Given the description of an element on the screen output the (x, y) to click on. 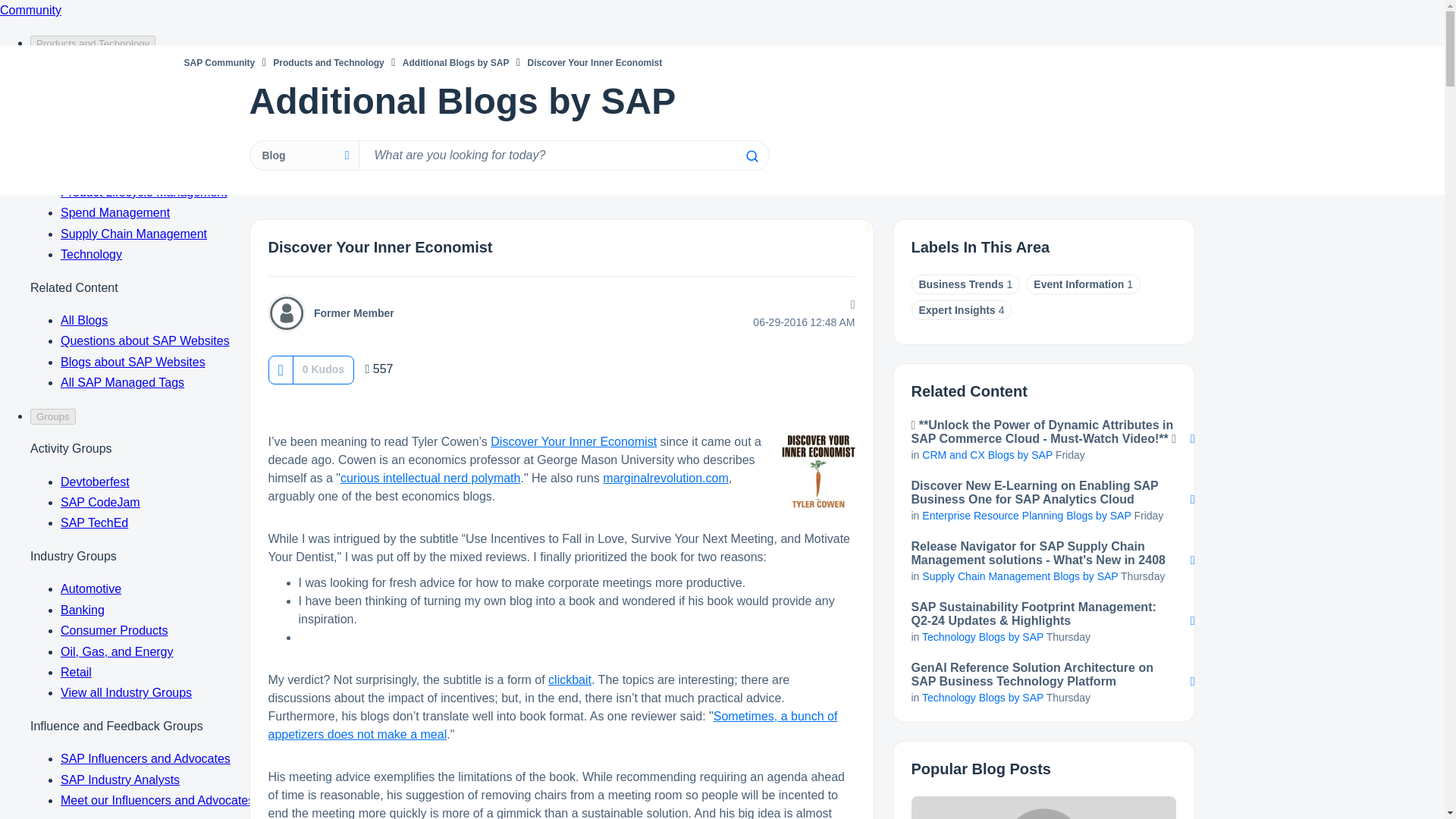
Discover Your Inner Economist (573, 440)
Search (563, 155)
Additional Blogs by SAP (456, 62)
Posted on (757, 322)
The total number of kudos this post has received. (323, 369)
View article (1043, 807)
Search (750, 155)
Search Granularity (303, 155)
marginalrevolution.com (665, 477)
clickbait (569, 679)
Search (750, 155)
Event Information (1078, 284)
curious intellectual nerd polymath (429, 477)
Sometimes, a bunch of appetizers does not make a meal (552, 725)
Products and Technology (328, 62)
